Given the description of an element on the screen output the (x, y) to click on. 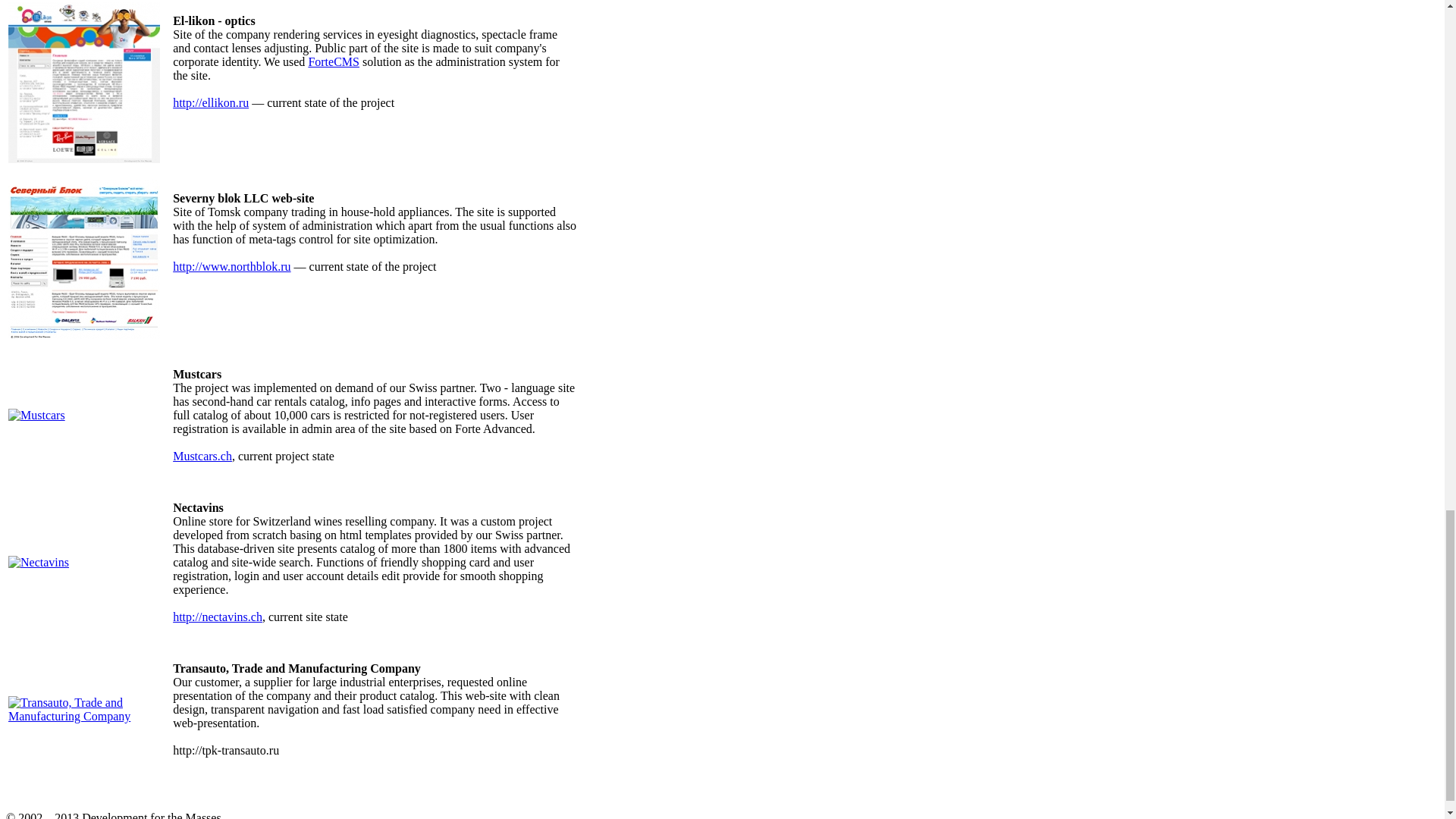
Content Managment Tools (333, 61)
Transauto, Trade and Manufacturing Company (90, 716)
Nectavins (38, 562)
Severny blok LLC web-site (84, 334)
El-likon - optics (84, 158)
Mustcars (36, 414)
